Given the description of an element on the screen output the (x, y) to click on. 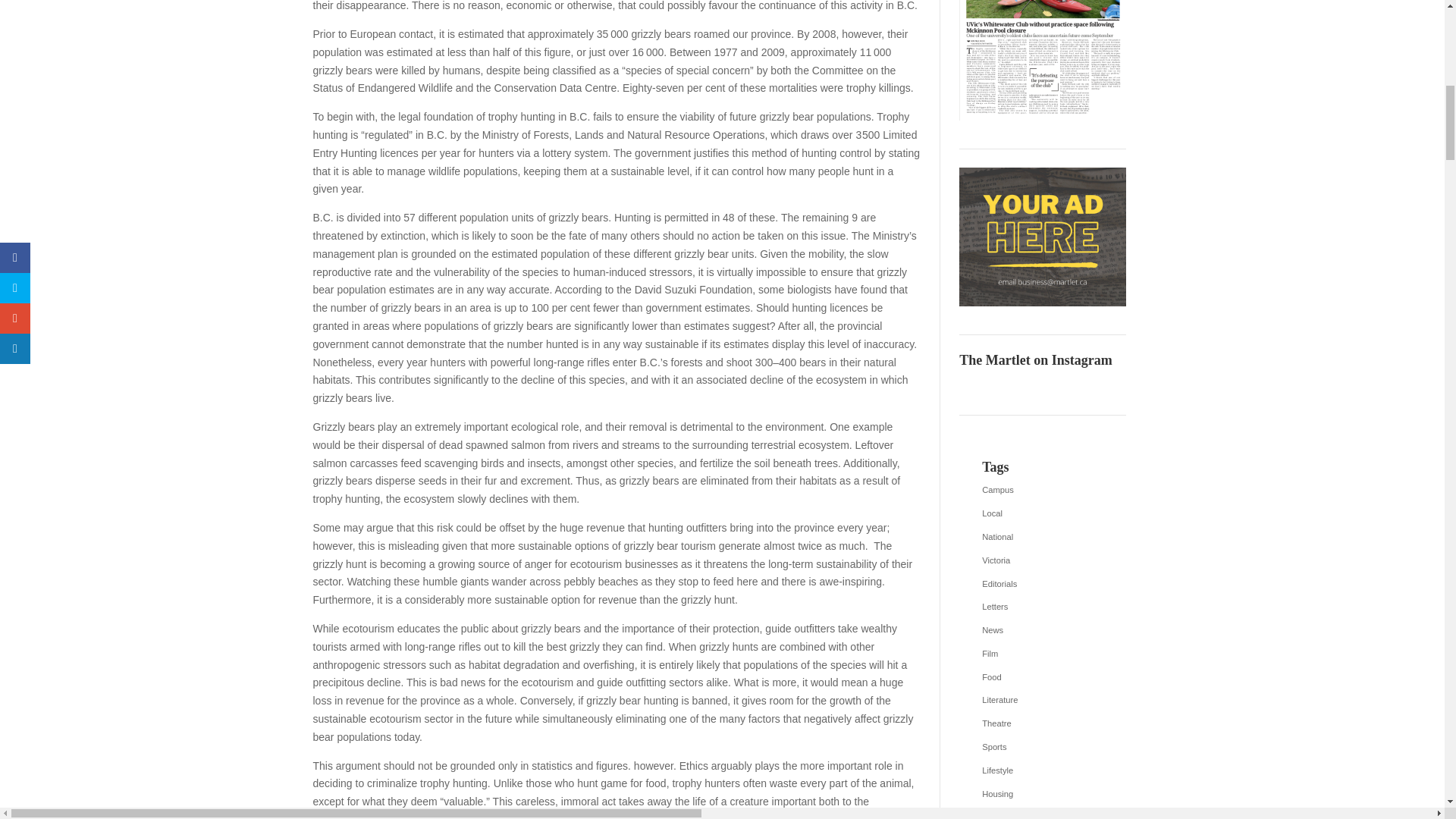
Our Digital Print Issue (1042, 60)
Victoria (1042, 561)
Editorials (1042, 583)
Letters (1042, 607)
Housing (1042, 794)
News (1042, 630)
Food (1042, 678)
Campus (1042, 490)
Lifestyle (1042, 771)
Film (1042, 654)
